Given the description of an element on the screen output the (x, y) to click on. 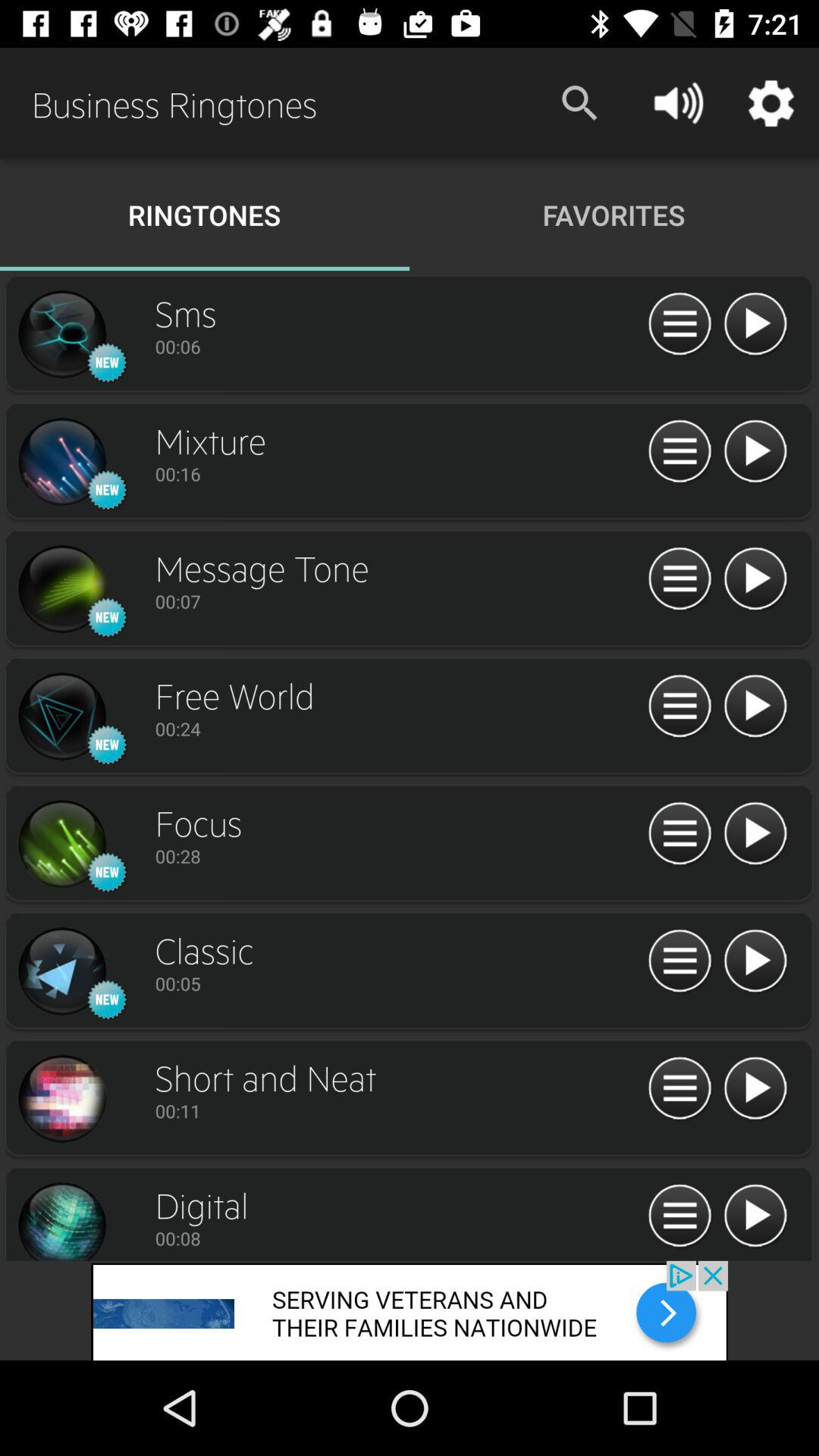
go to customize (679, 706)
